Given the description of an element on the screen output the (x, y) to click on. 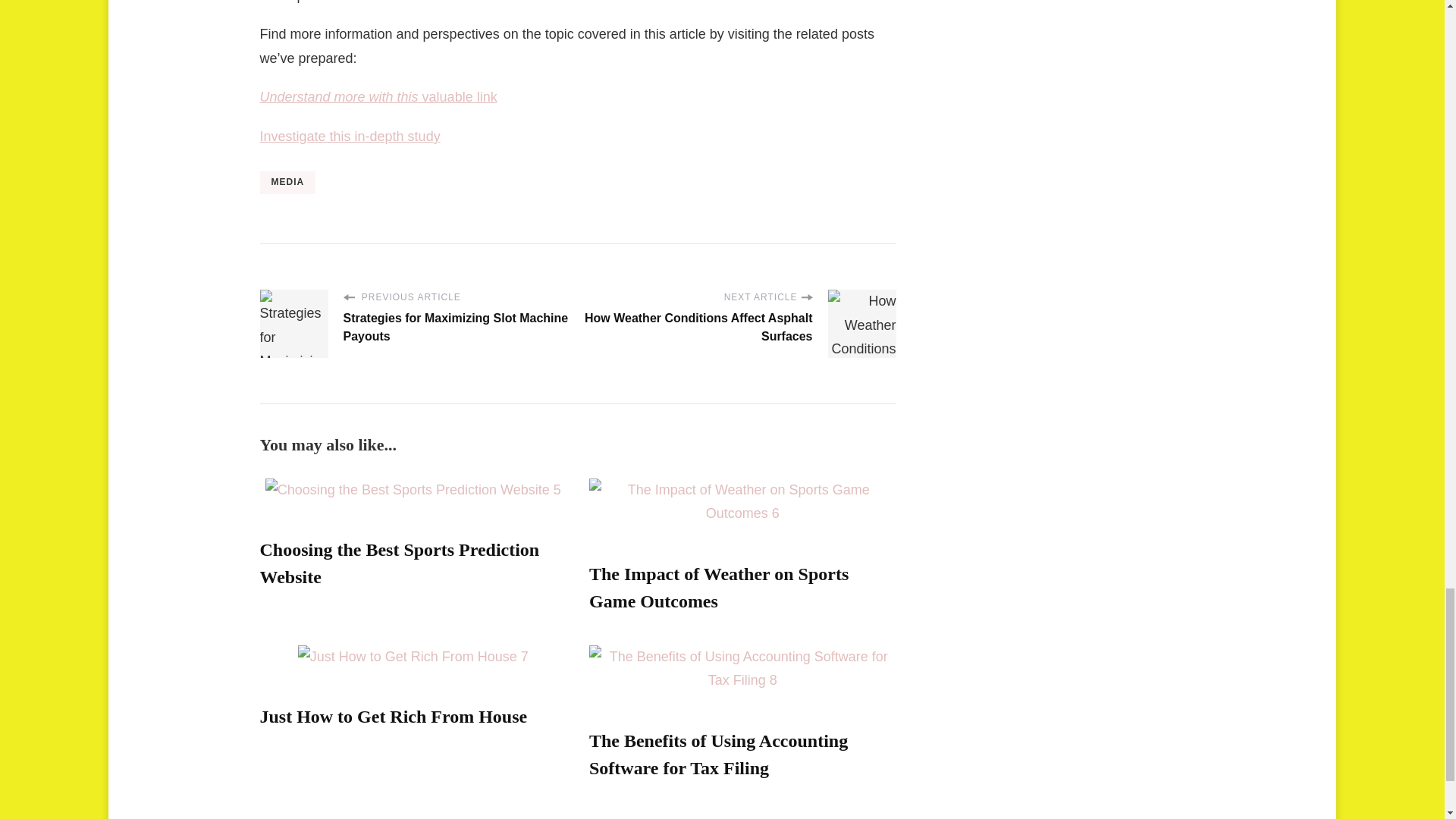
The Impact of Weather on Sports Game Outcomes (718, 587)
Just How to Get Rich From House (393, 716)
Investigate this in-depth study (349, 136)
MEDIA (287, 182)
Understand more with this valuable link (377, 96)
The Benefits of Using Accounting Software for Tax Filing (718, 754)
Choosing the Best Sports Prediction Website (398, 563)
